Given the description of an element on the screen output the (x, y) to click on. 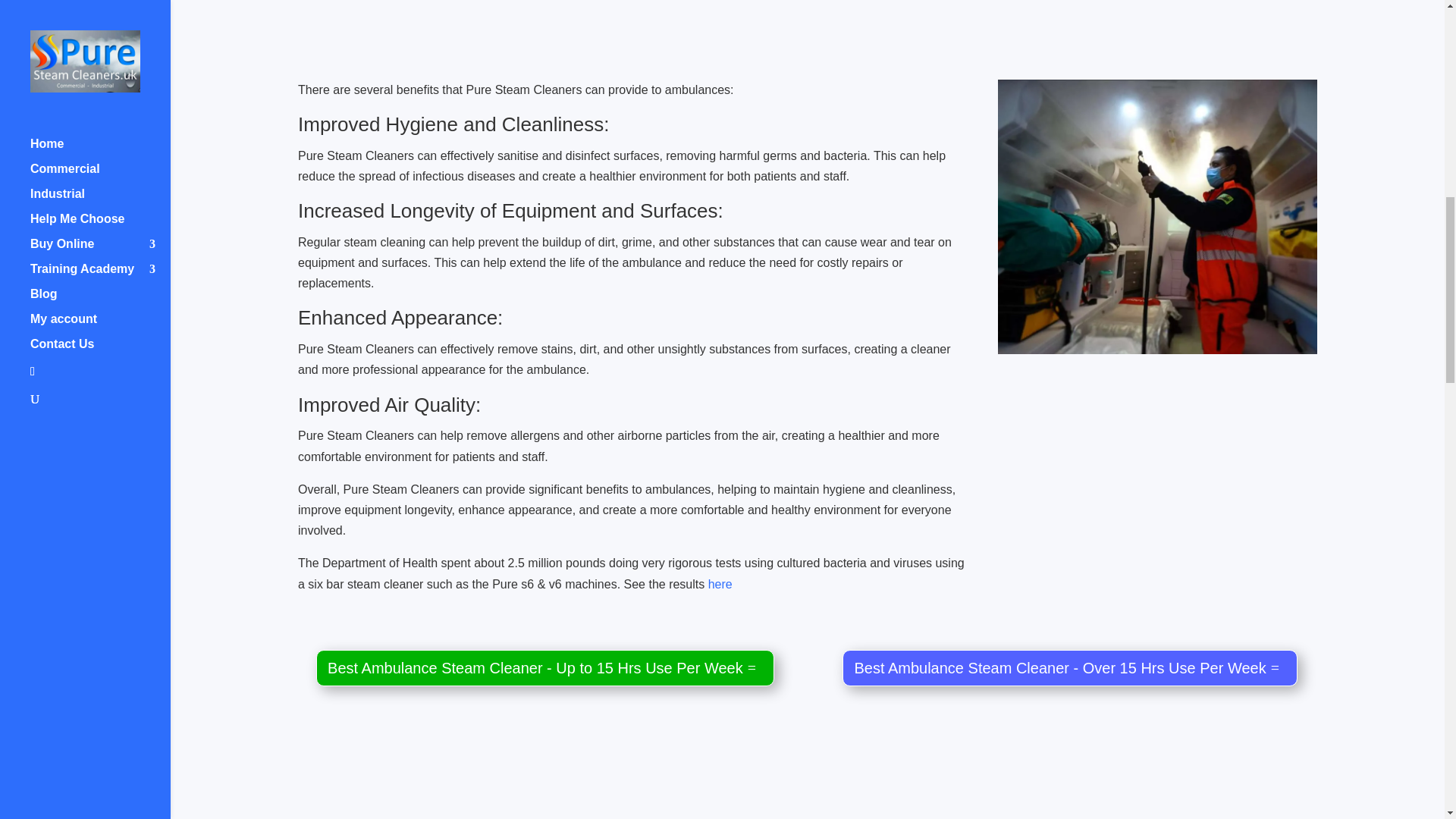
Ambulance (1157, 216)
here (719, 584)
Best Ambulance Steam Cleaner - Up to 15 Hrs Use Per Week (544, 668)
Best Ambulance Steam Cleaner - Over 15 Hrs Use Per Week (1070, 668)
